Given the description of an element on the screen output the (x, y) to click on. 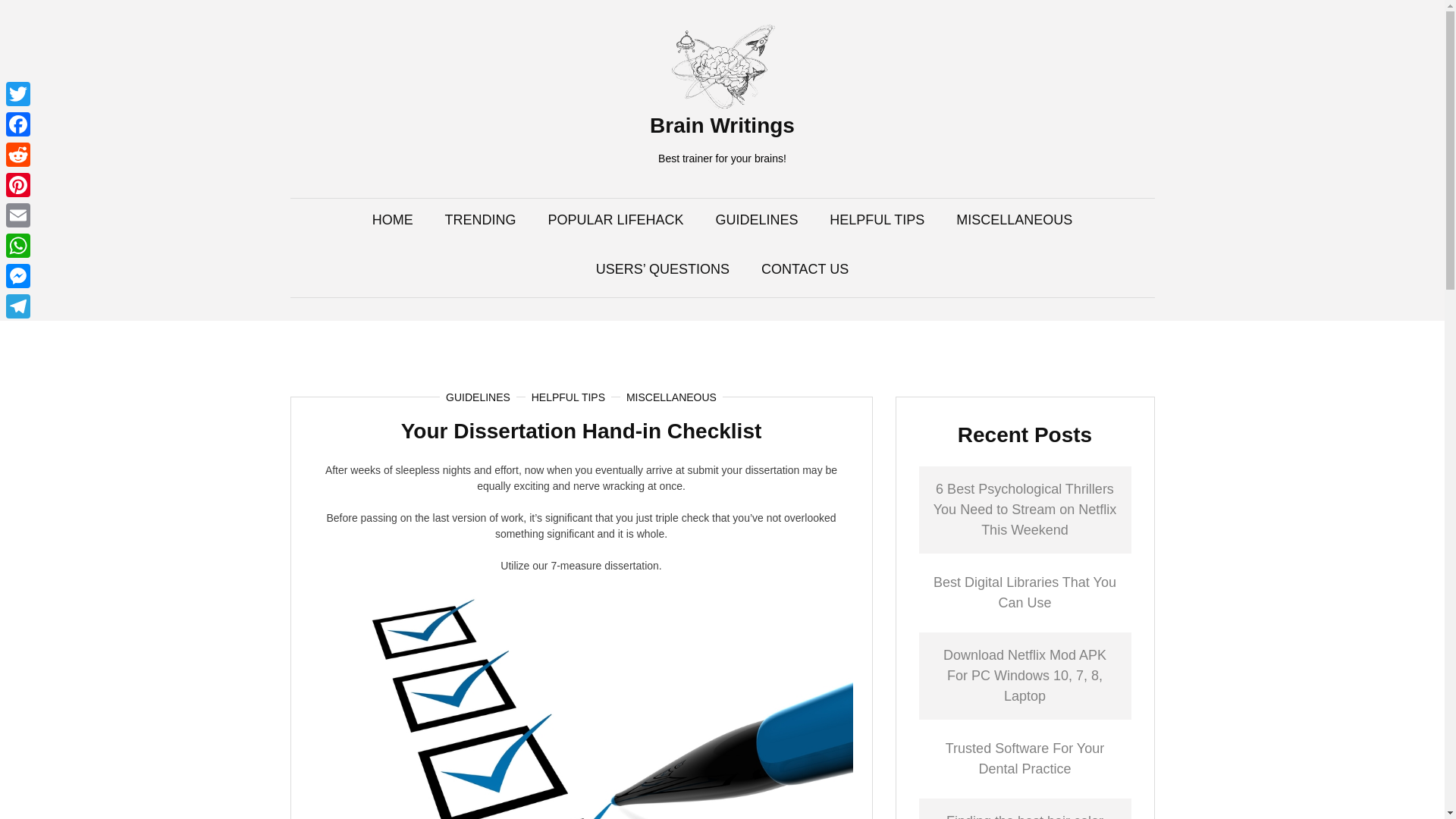
Trusted Software For Your Dental Practice (1023, 758)
Best Digital Libraries That You Can Use (1024, 592)
Messenger (17, 276)
HELPFUL TIPS (877, 220)
MISCELLANEOUS (1014, 220)
Reddit (17, 154)
Twitter (17, 93)
Email (17, 214)
HELPFUL TIPS (568, 397)
Twitter (17, 93)
MISCELLANEOUS (671, 397)
WhatsApp (17, 245)
POPULAR LIFEHACK (614, 220)
Facebook (17, 123)
